Given the description of an element on the screen output the (x, y) to click on. 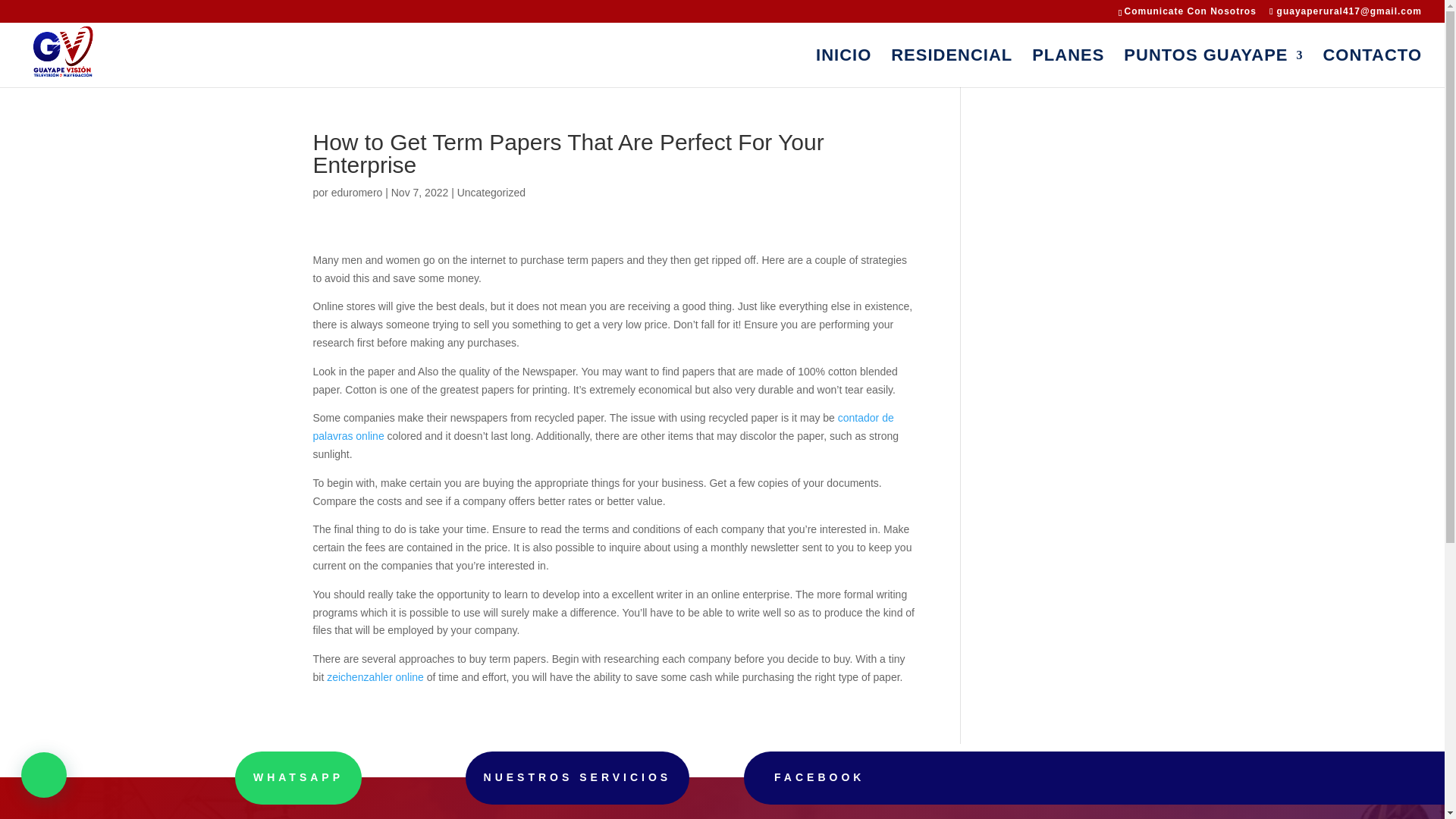
WHATSAPP (297, 777)
FACEBOOK (819, 776)
INICIO (842, 67)
PUNTOS GUAYAPE (1213, 67)
Uncategorized (491, 192)
PLANES (1067, 67)
Mensajes de eduromero (356, 192)
contador de palavras online (603, 426)
RESIDENCIAL (951, 67)
CONTACTO (1372, 67)
eduromero (356, 192)
zeichenzahler online (374, 676)
NUESTROS SERVICIOS (577, 777)
